Given the description of an element on the screen output the (x, y) to click on. 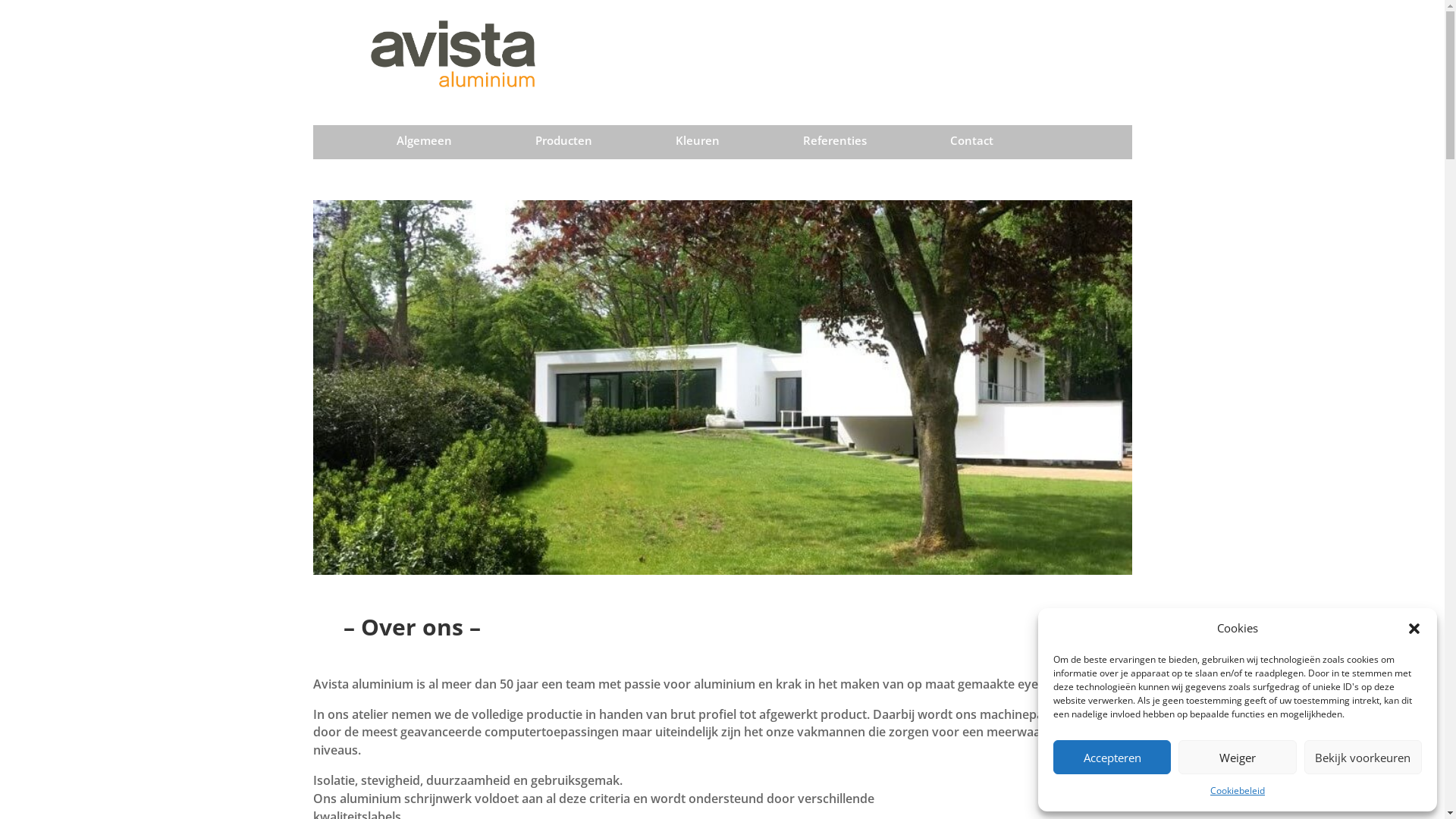
Algemeen Element type: text (423, 143)
avista_logo_HR-01 Element type: hover (440, 48)
Bekijk voorkeuren Element type: text (1362, 757)
Weiger Element type: text (1236, 757)
Accepteren Element type: text (1111, 757)
Contact Element type: text (971, 143)
Referenties Element type: text (834, 143)
Producten Element type: text (563, 143)
Kleuren Element type: text (697, 143)
Cookiebeleid Element type: text (1237, 790)
over ons Element type: hover (721, 387)
